Given the description of an element on the screen output the (x, y) to click on. 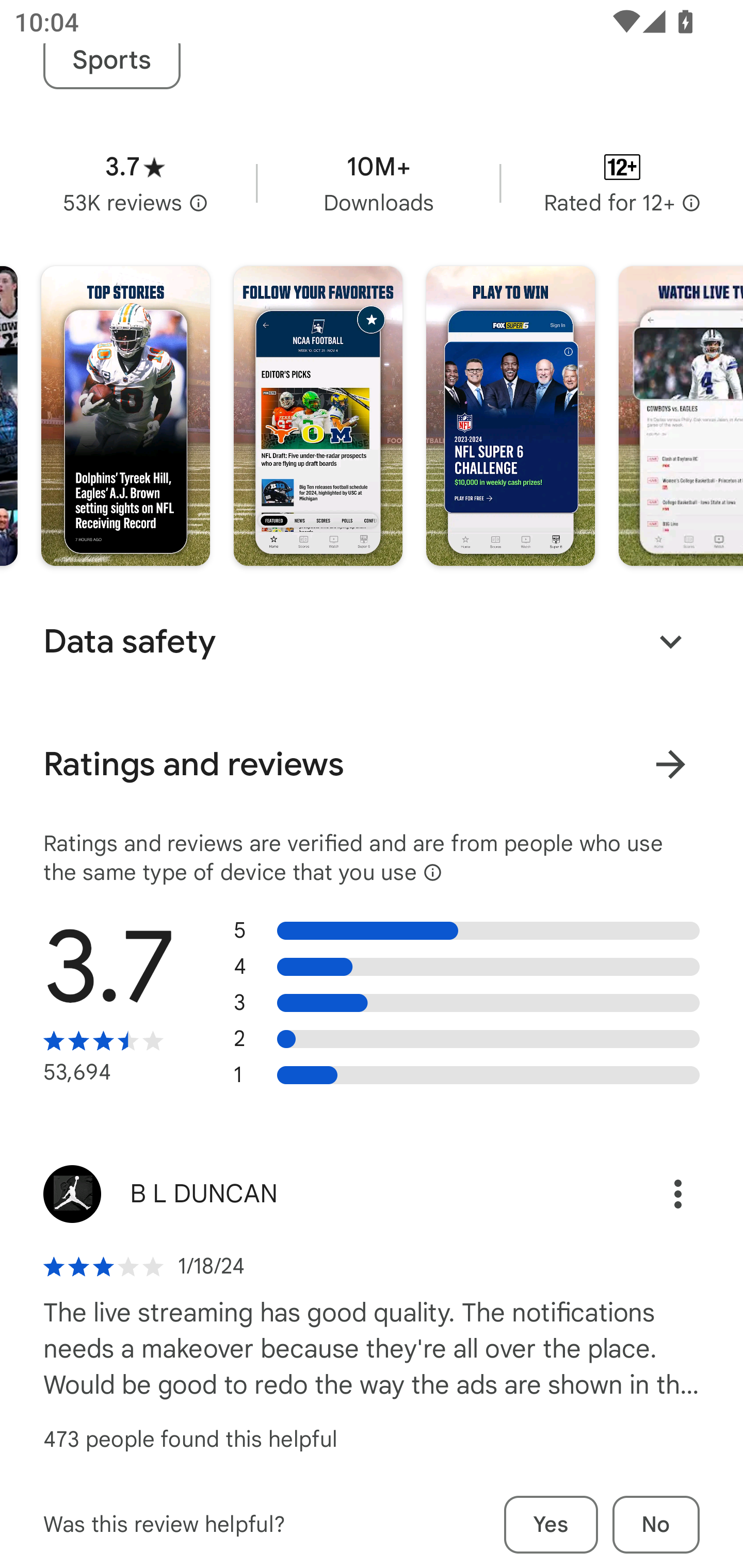
Average rating 3.7 stars in 53 thousand reviews (135, 183)
Content rating Rated for 12+ (622, 183)
Screenshot "1" of "5" (125, 416)
Screenshot "2" of "5" (318, 416)
Screenshot "3" of "5" (510, 416)
Screenshot "4" of "5" (680, 416)
Data safety Expand (371, 641)
Expand (670, 641)
Ratings and reviews View all ratings and reviews (371, 764)
View all ratings and reviews (670, 764)
Options (655, 1193)
Yes (550, 1524)
No (655, 1524)
